Given the description of an element on the screen output the (x, y) to click on. 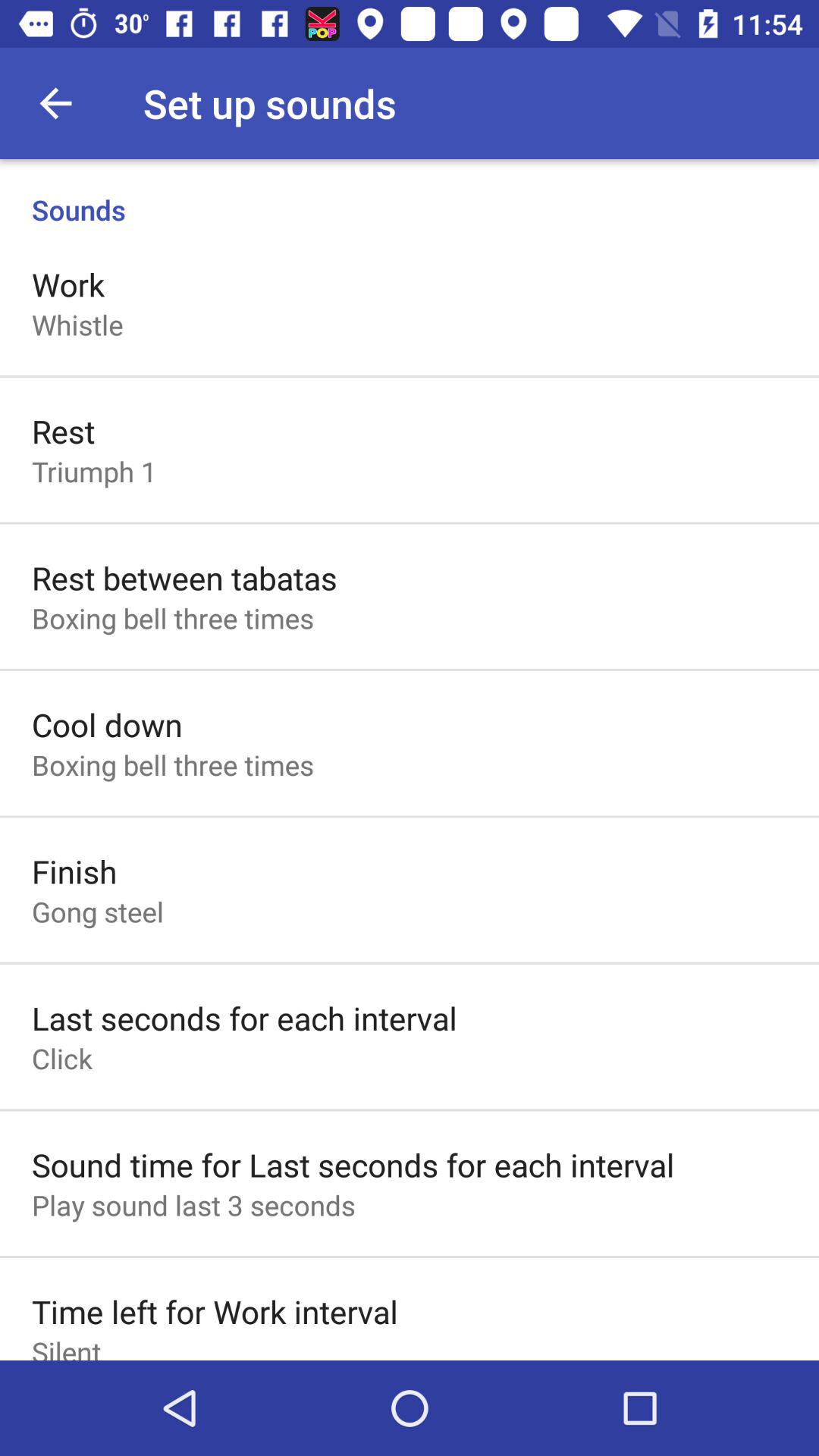
turn off item below the last seconds for item (61, 1058)
